Given the description of an element on the screen output the (x, y) to click on. 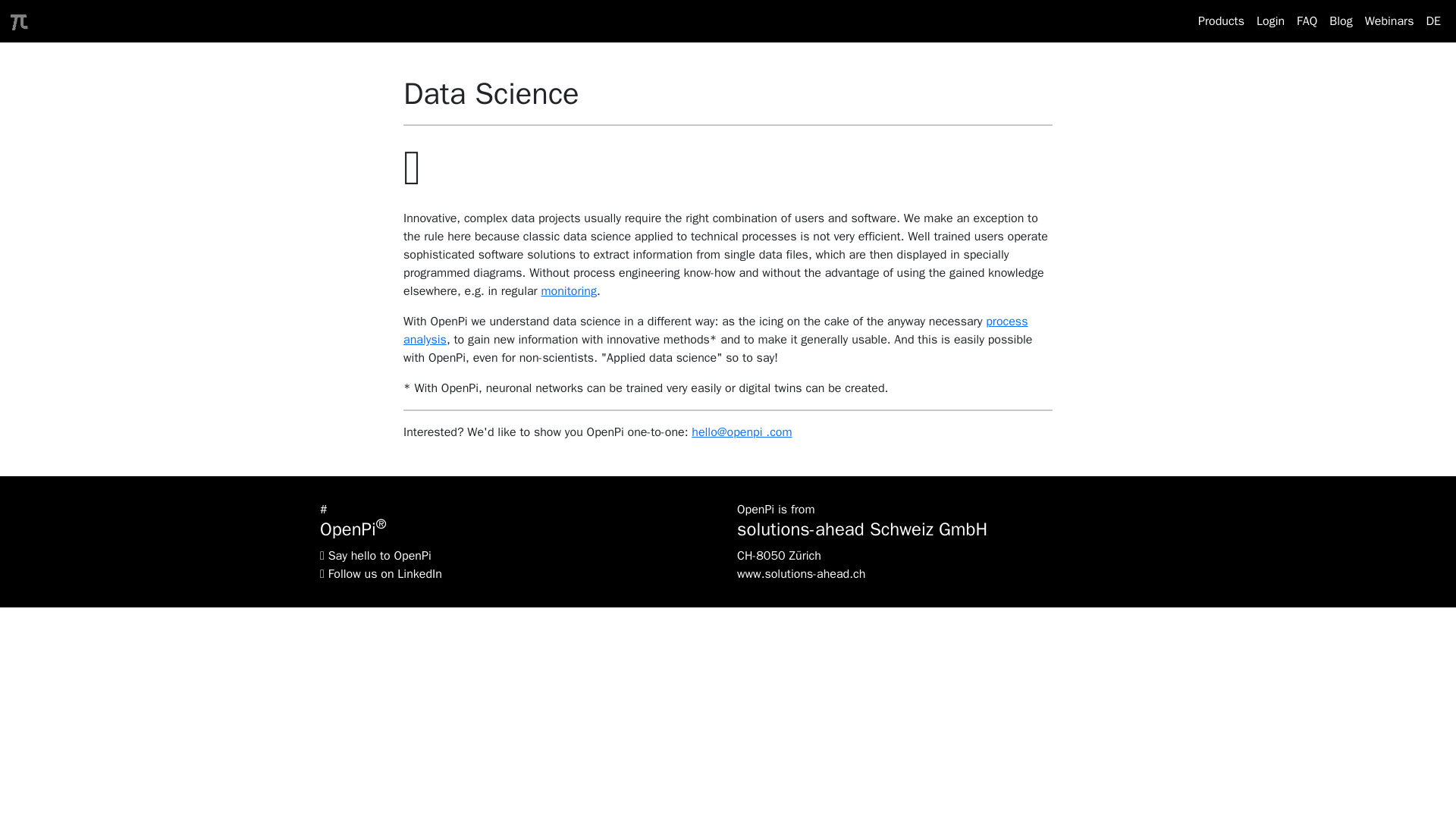
Products (1221, 20)
FAQ (1306, 20)
process analysis (715, 330)
Follow us on LinkedIn (385, 573)
Webinars (1389, 20)
DE (1433, 20)
Say hello to OpenPi (379, 555)
monitoring (568, 290)
Login (1270, 20)
Blog (1340, 20)
